Given the description of an element on the screen output the (x, y) to click on. 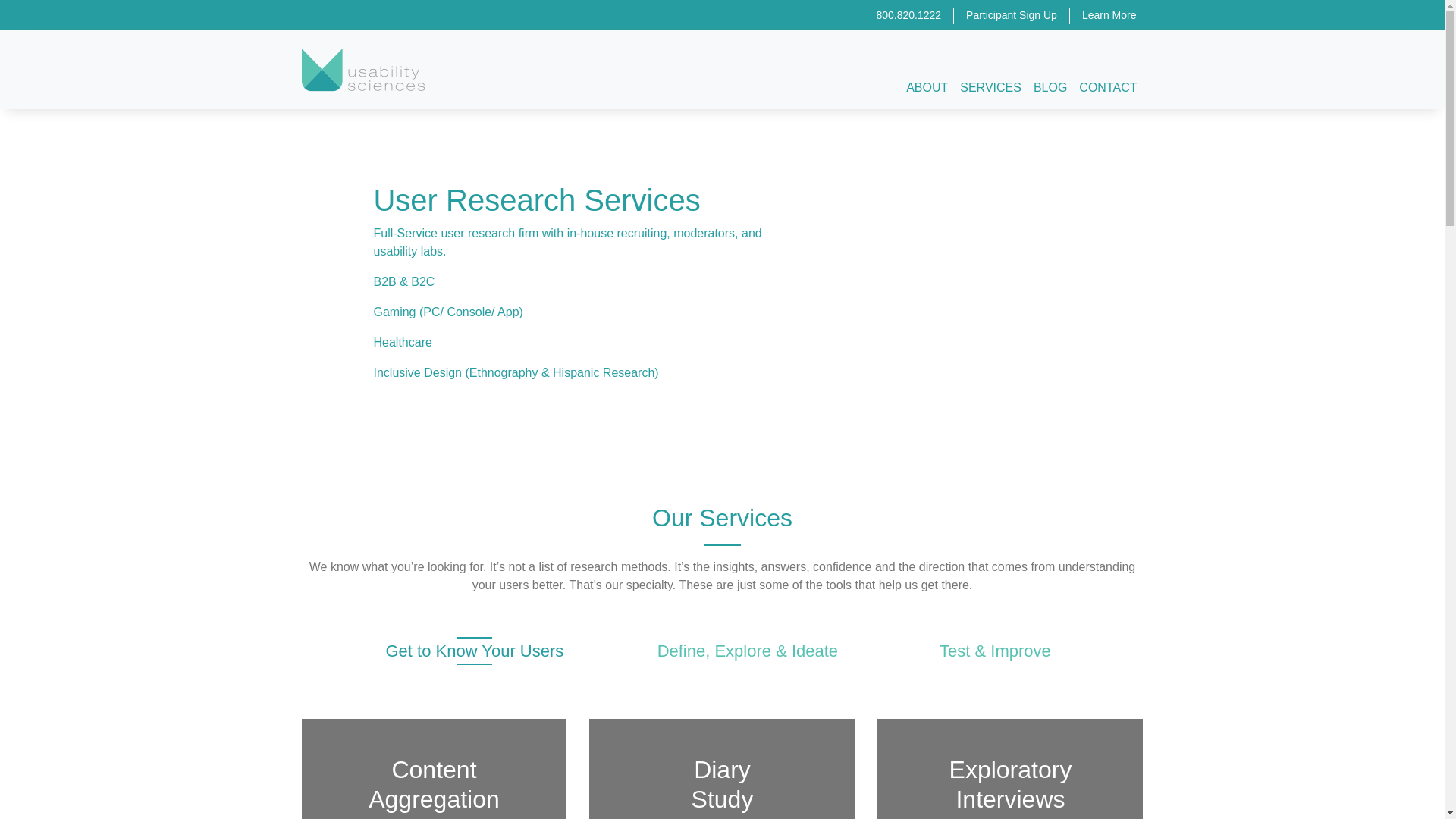
SERVICES (990, 87)
Participant Sign Up (1010, 15)
ABOUT (926, 87)
Learn More (1105, 15)
800.820.1222 (908, 15)
